Given the description of an element on the screen output the (x, y) to click on. 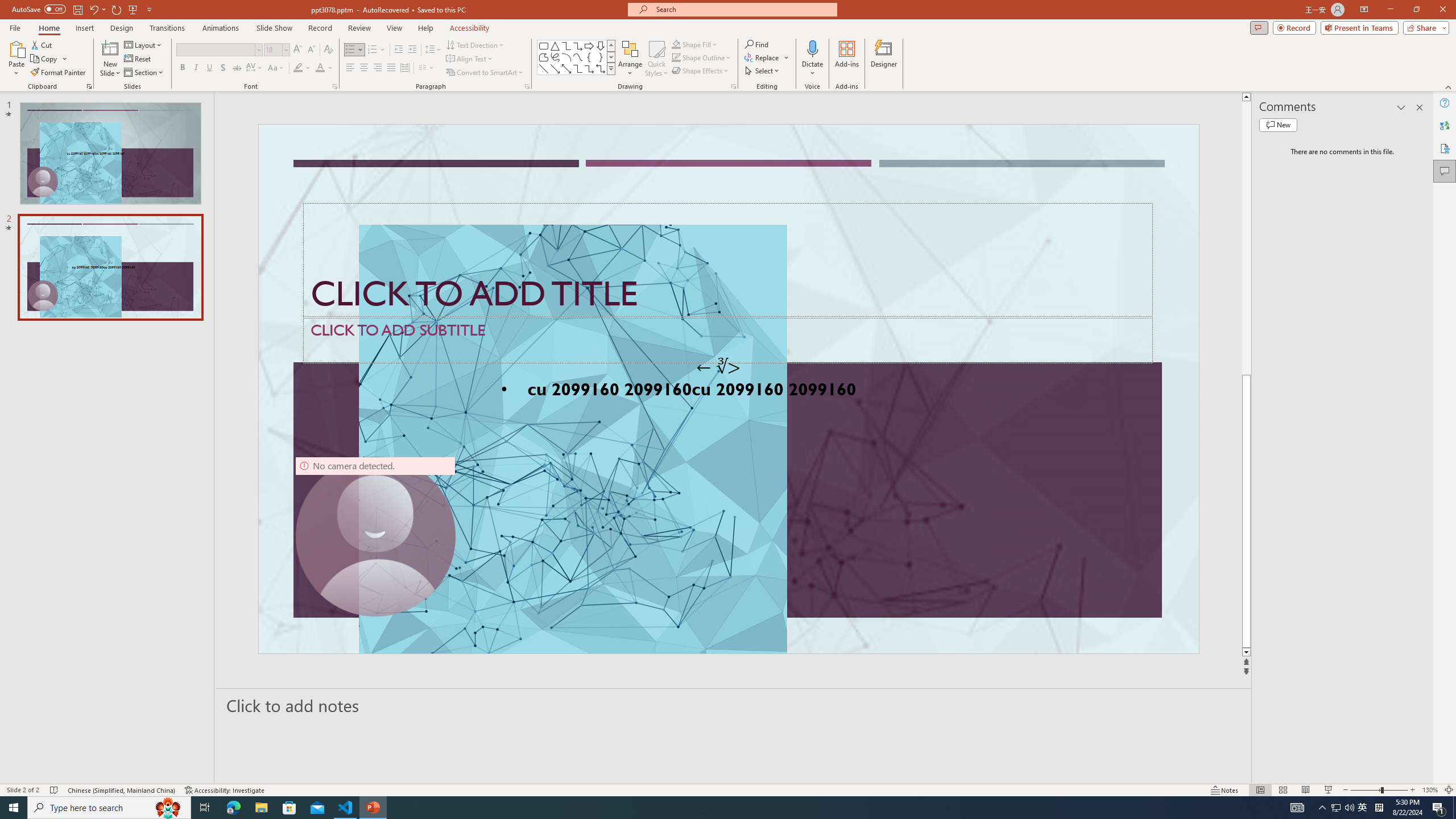
Bold (182, 67)
Layout (143, 44)
Paste (16, 58)
Find... (756, 44)
An abstract genetic concept (728, 388)
Line (543, 68)
Redo (117, 9)
Insert (83, 28)
New Slide (110, 48)
Review (359, 28)
Class: MsoCommandBar (728, 789)
